Given the description of an element on the screen output the (x, y) to click on. 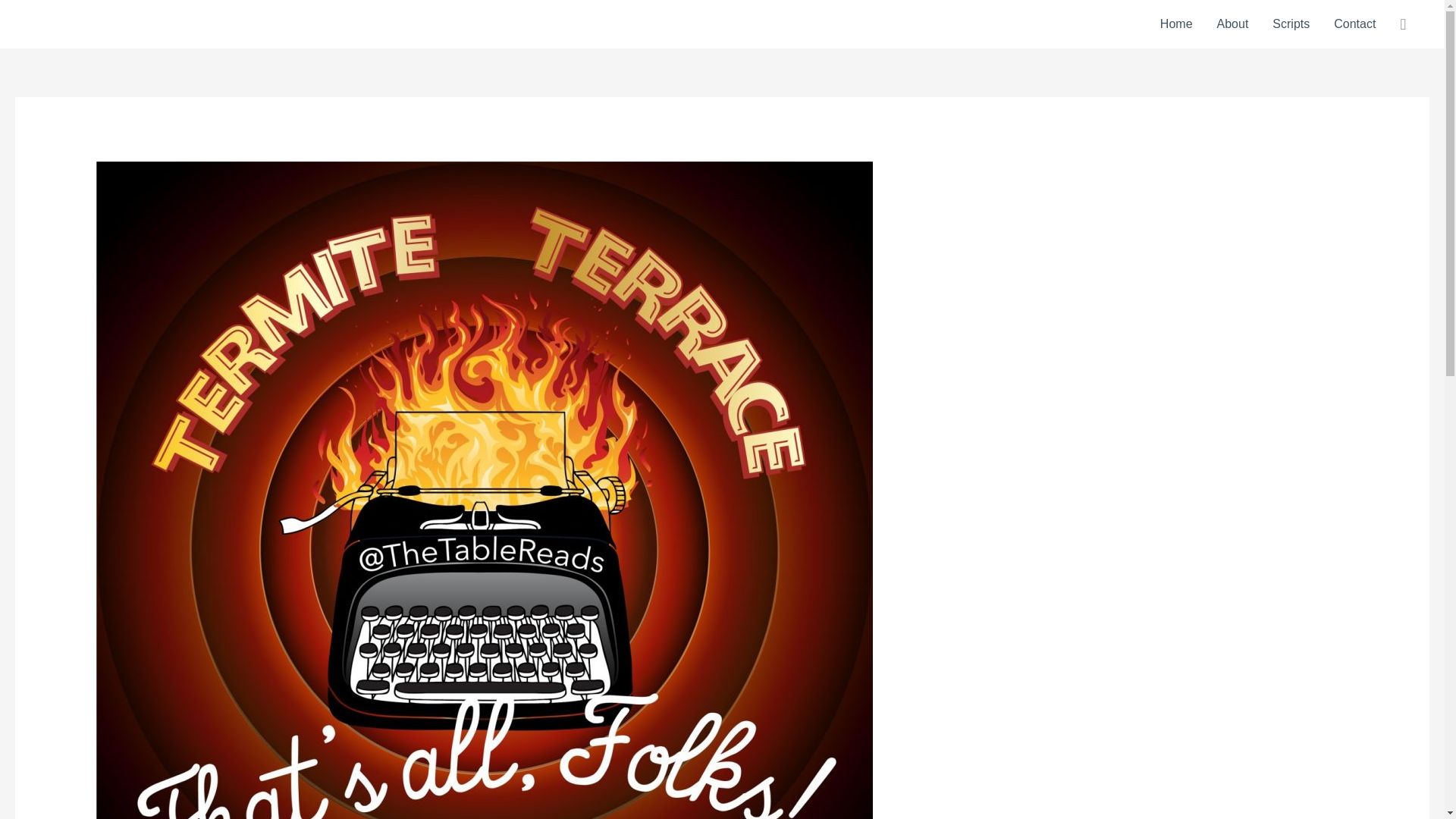
Scripts (1291, 24)
Contact (1354, 24)
Search (18, 17)
About (1232, 24)
Home (1176, 24)
